Given the description of an element on the screen output the (x, y) to click on. 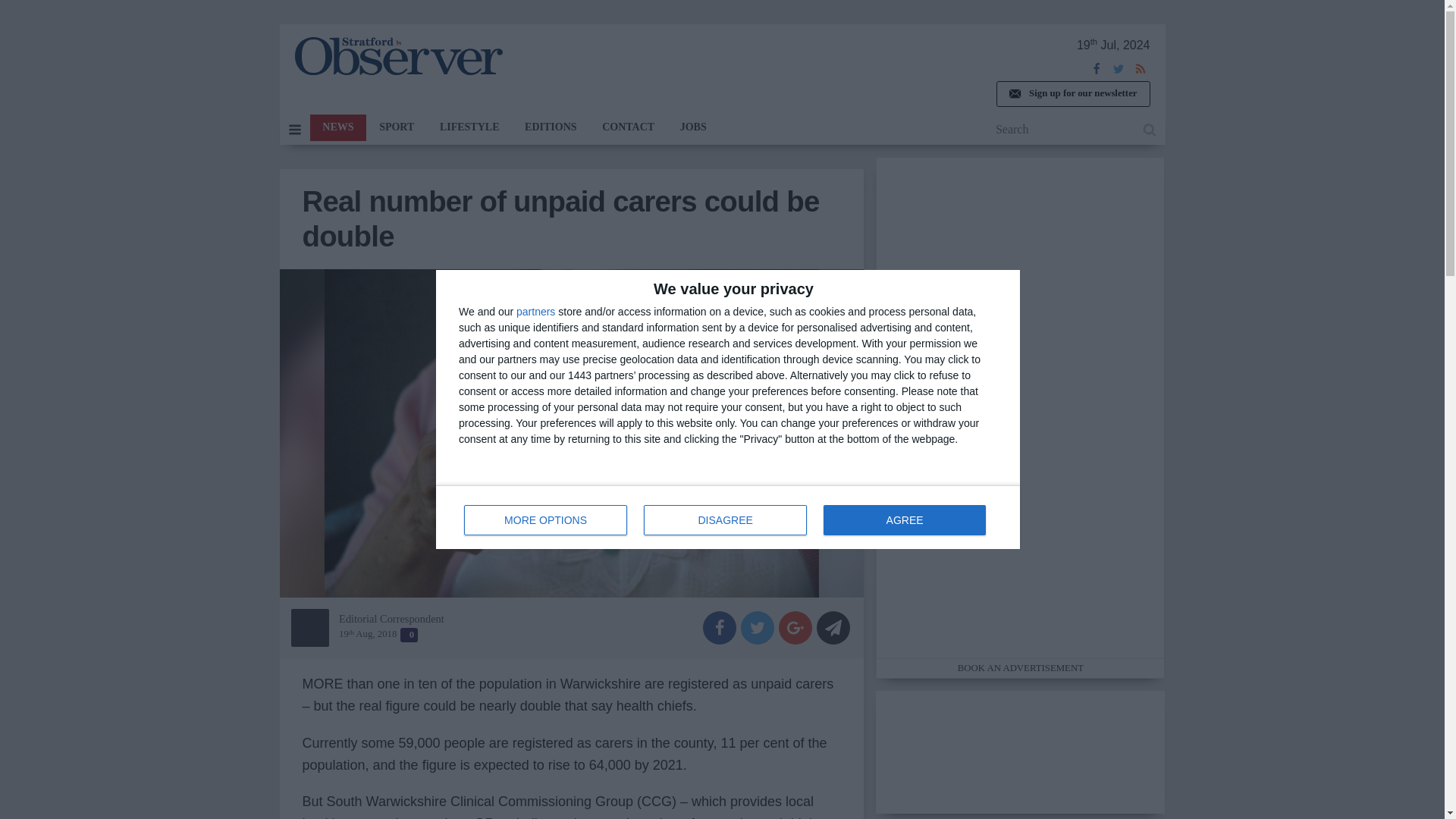
partners (727, 516)
  Sign up for our newsletter (535, 311)
DISAGREE (1072, 94)
LIFESTYLE (724, 520)
NEWS (469, 127)
SPORT (337, 127)
The Stratford Observer (396, 127)
AGREE (398, 55)
MORE OPTIONS (904, 520)
